Given the description of an element on the screen output the (x, y) to click on. 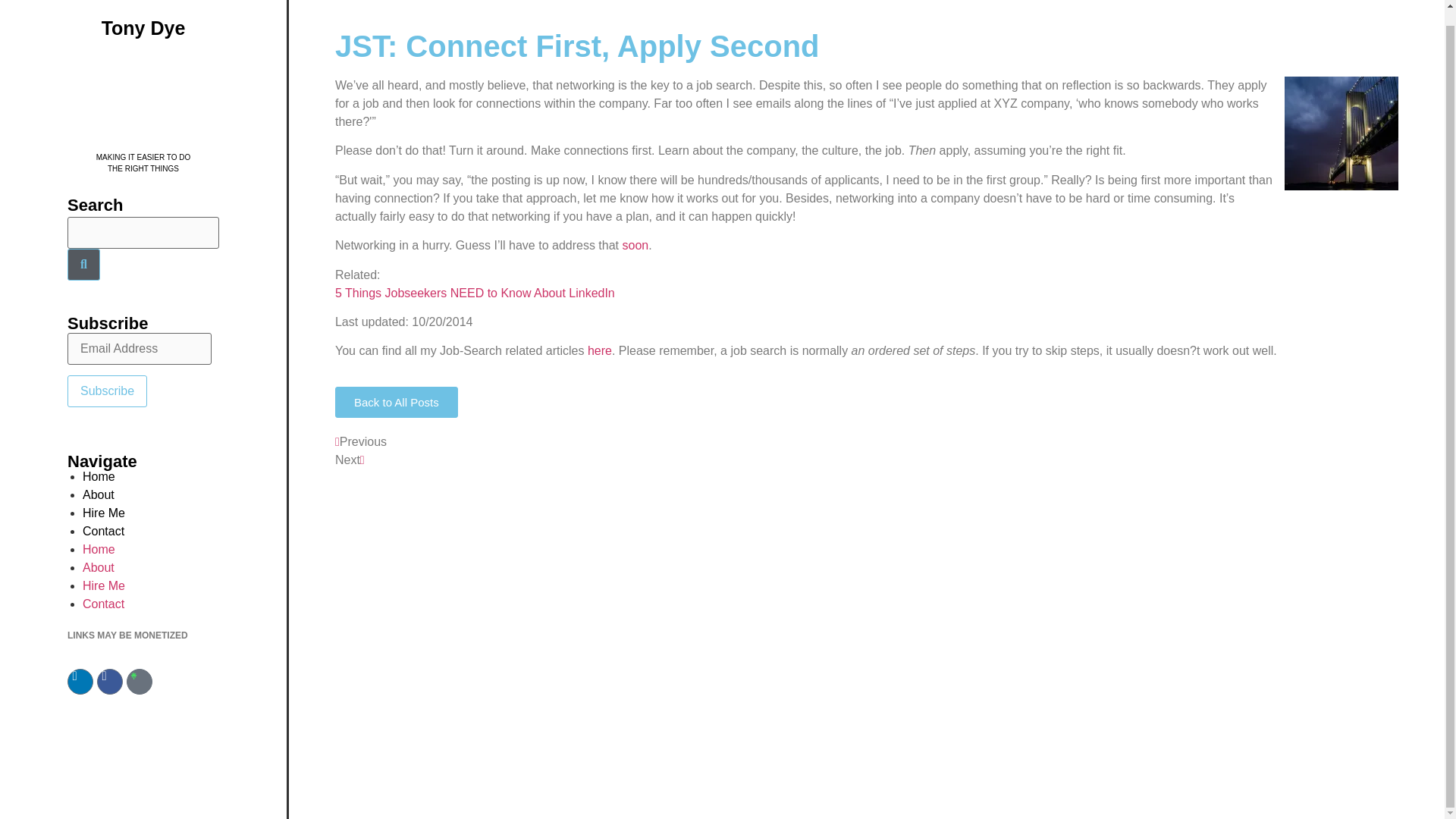
Tony Dye (98, 476)
Contact (102, 531)
5 Things Jobseekers NEED to Know About LinkedIn (474, 292)
Hire Me (103, 585)
t Things Jobseekers NEED to know about LinkedIn (474, 292)
Next (349, 459)
soon (634, 245)
Subscribe (106, 391)
Hire Me (103, 513)
About (98, 495)
